Given the description of an element on the screen output the (x, y) to click on. 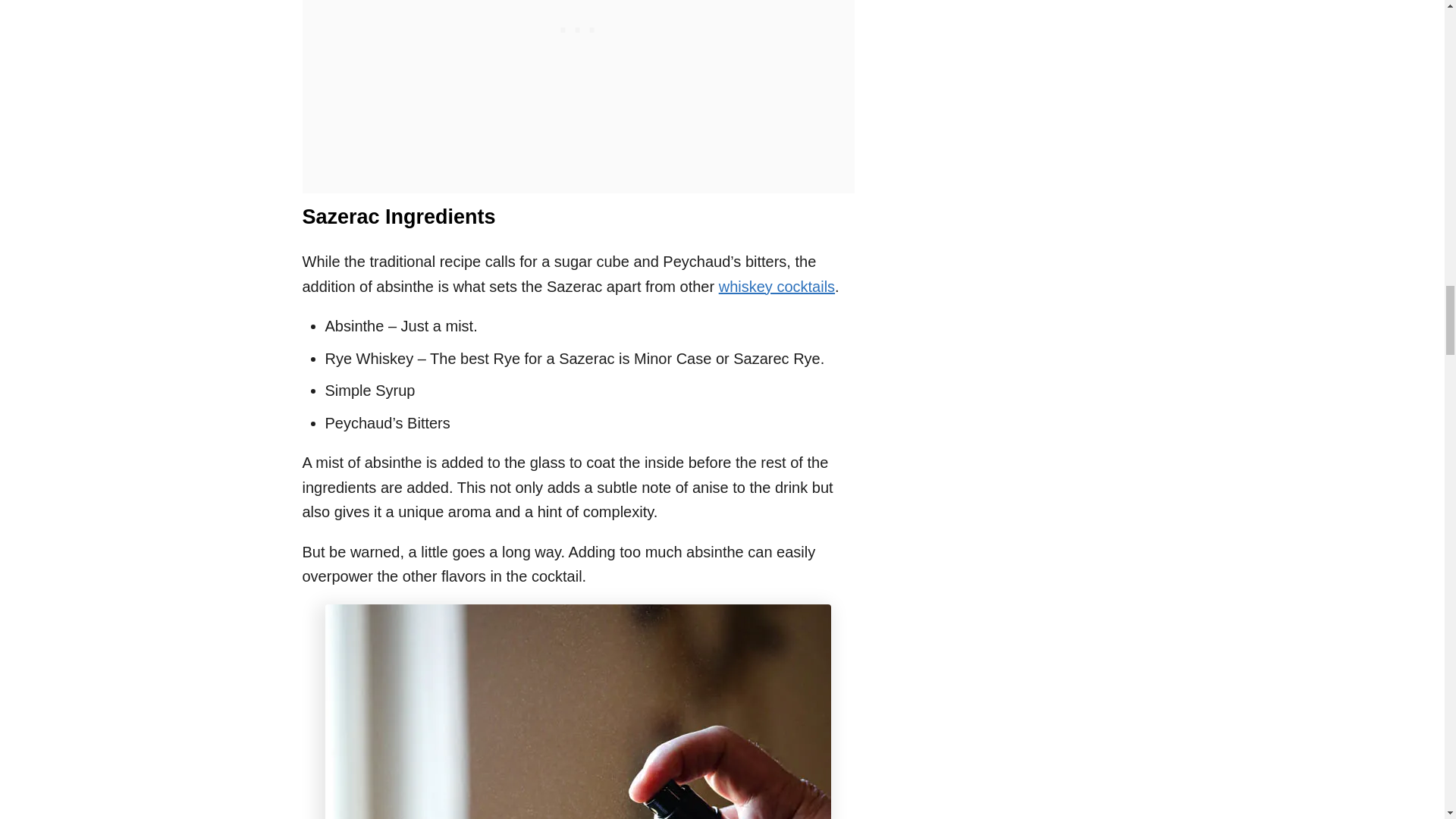
Sazerac Cocktail 3 (577, 711)
whiskey cocktails (776, 286)
